Given the description of an element on the screen output the (x, y) to click on. 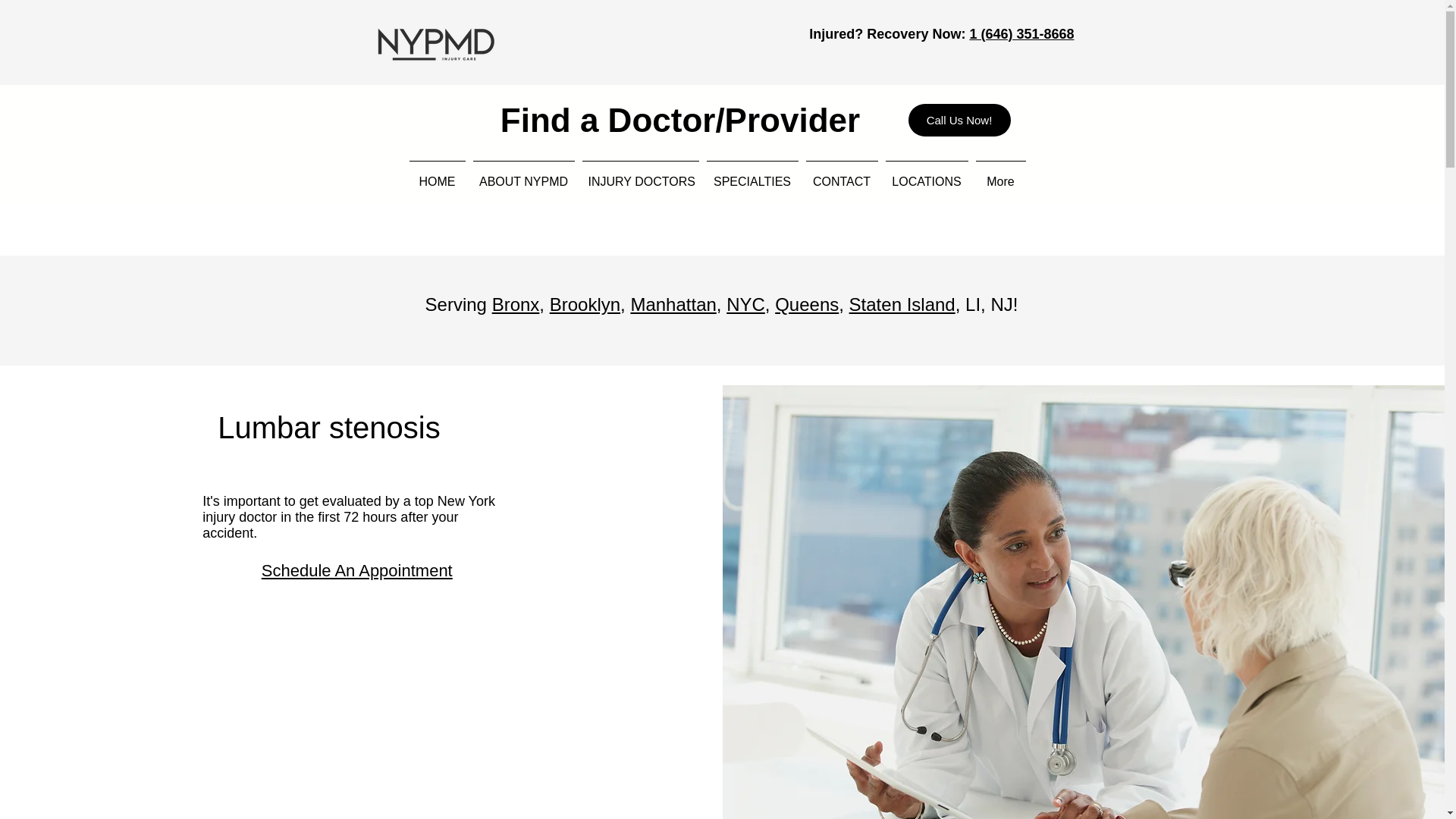
Schedule An Appointment (357, 570)
Queens (806, 304)
Bronx (516, 304)
INJURY DOCTORS (639, 174)
Staten Island (901, 304)
SPECIALTIES (751, 174)
Manhattan (673, 304)
Brooklyn (585, 304)
LOCATIONS (925, 174)
New York Accident Doctors NYPMD (434, 42)
